Given the description of an element on the screen output the (x, y) to click on. 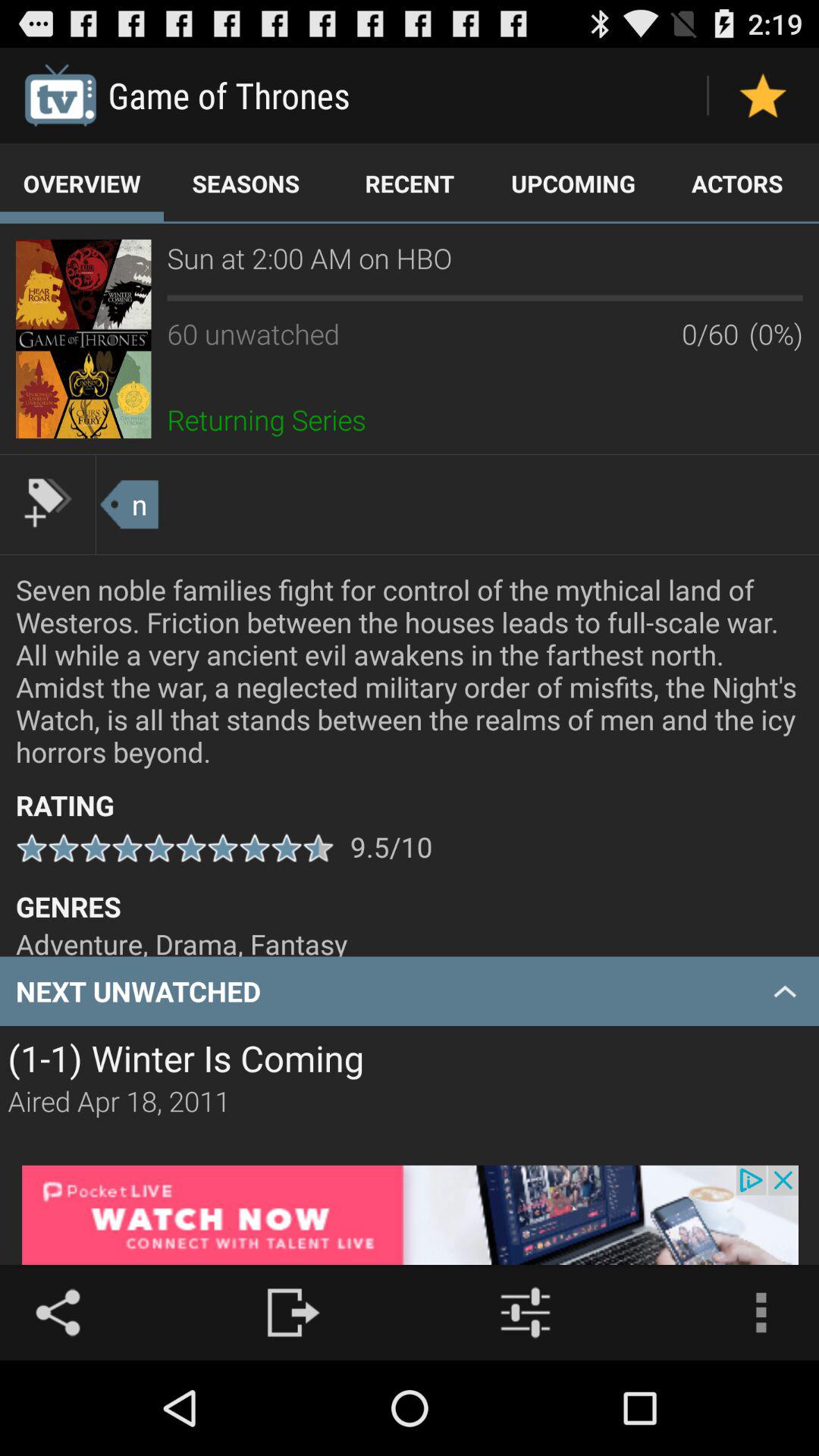
add item (47, 502)
